Given the description of an element on the screen output the (x, y) to click on. 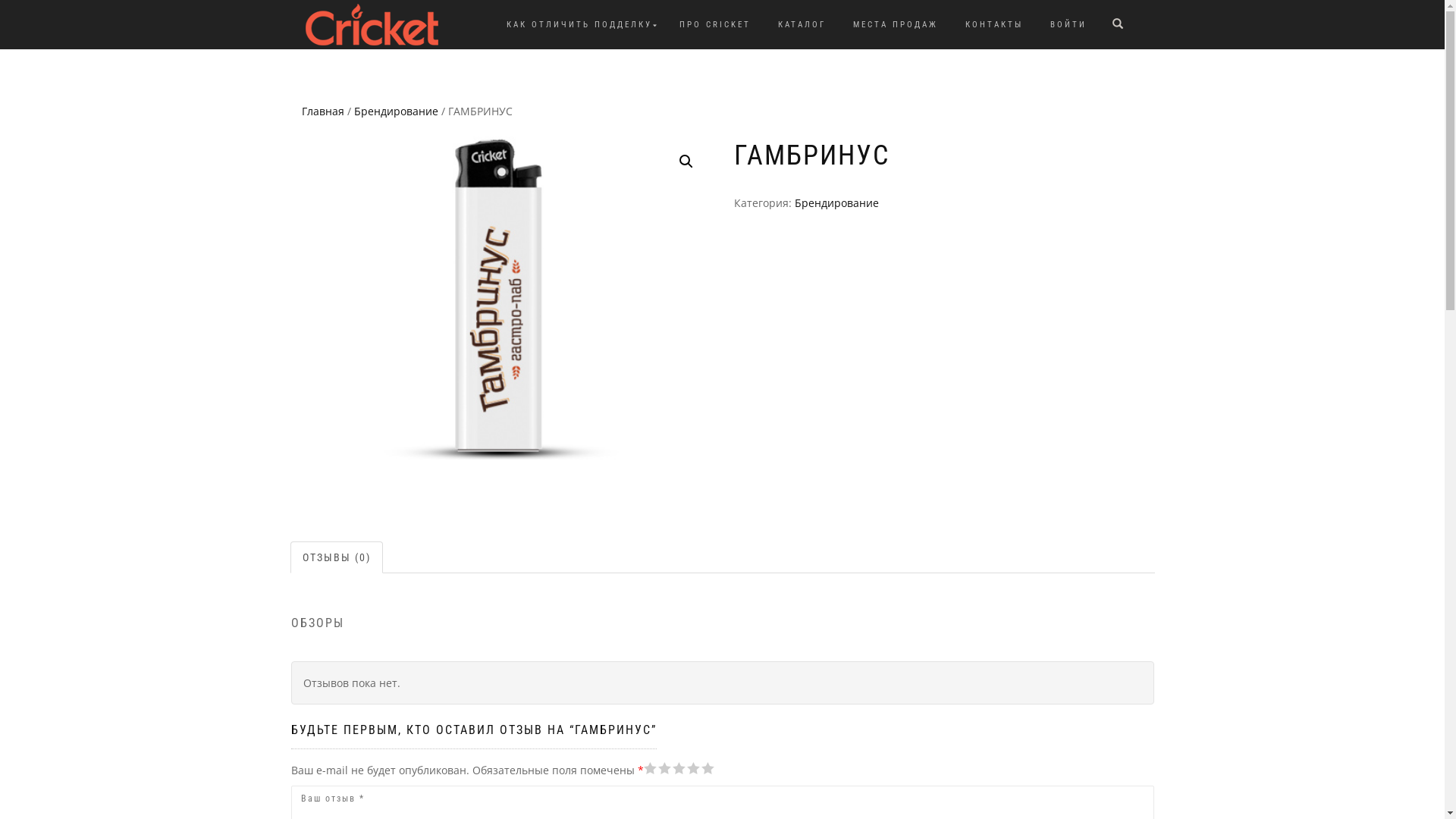
2 Element type: text (656, 767)
3 Element type: text (663, 767)
5 Element type: text (677, 767)
Gambrinus Element type: hover (499, 297)
1 Element type: text (649, 767)
4 Element type: text (670, 767)
